Given the description of an element on the screen output the (x, y) to click on. 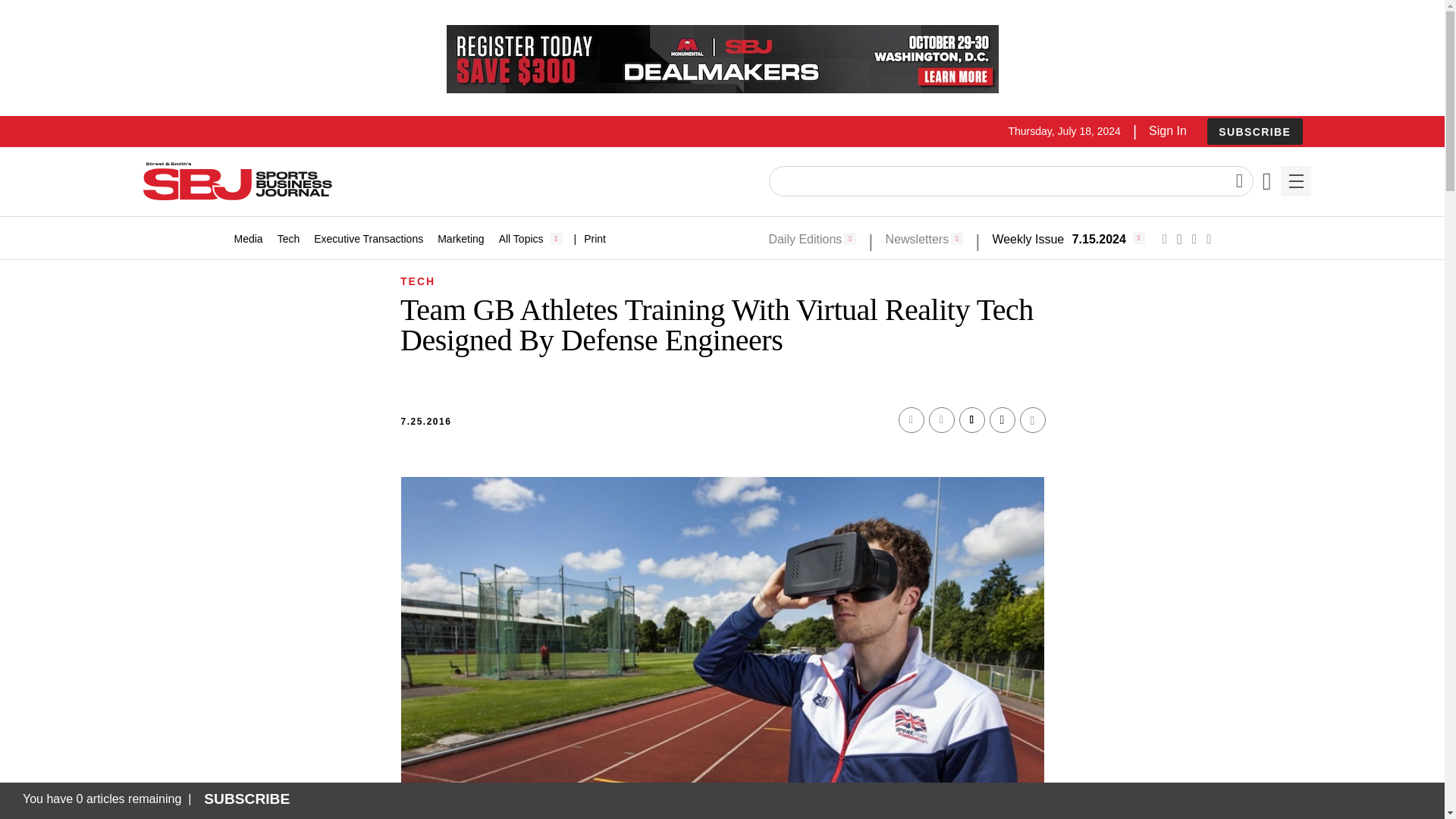
SUBSCRIBE (1255, 130)
SIGN IN (1194, 415)
SUBSCRIBE (1254, 131)
3rd party ad content (721, 59)
Sign In (1167, 131)
Menu (1294, 181)
